Given the description of an element on the screen output the (x, y) to click on. 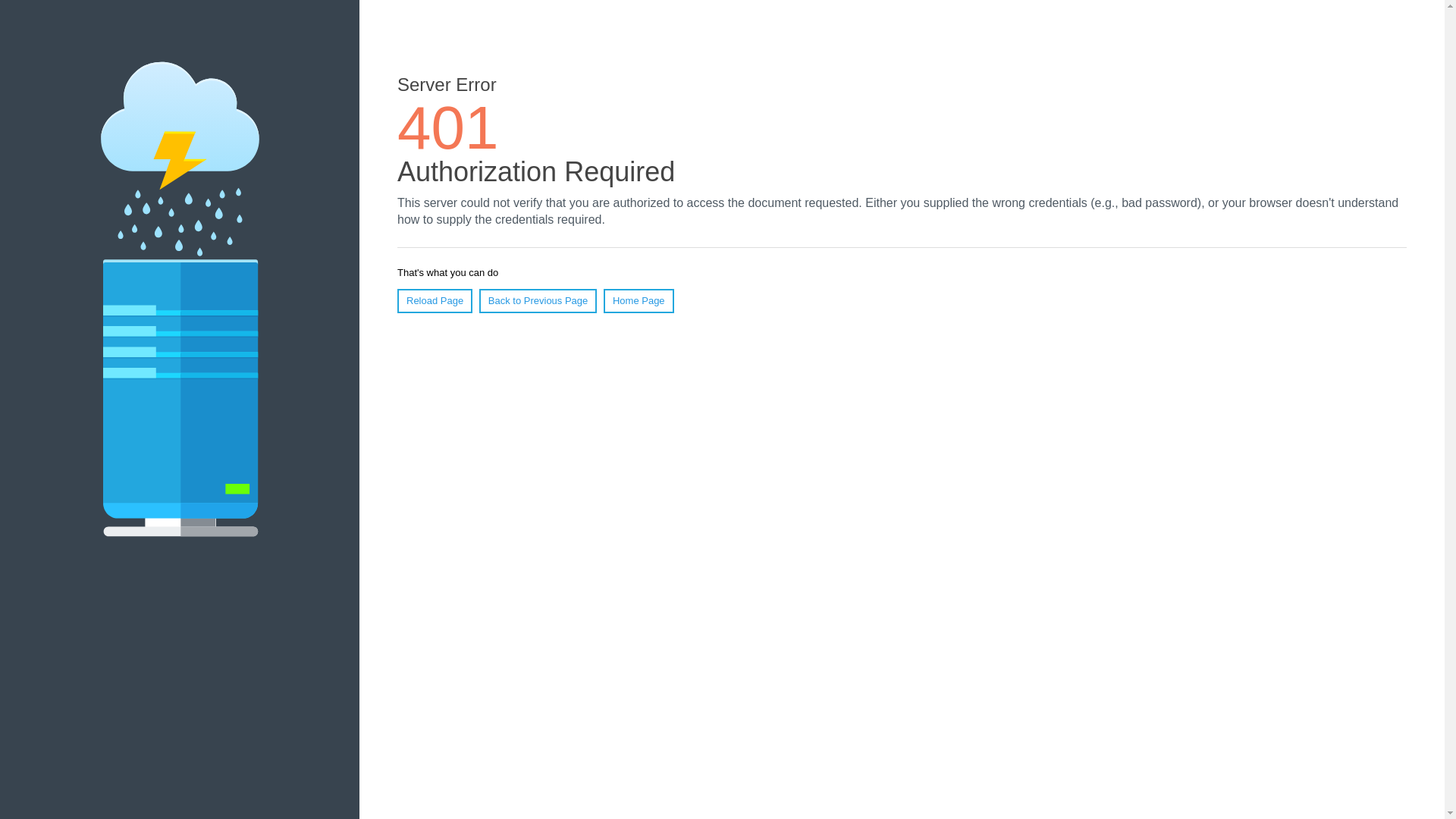
Home Page Element type: text (638, 300)
Reload Page Element type: text (434, 300)
Back to Previous Page Element type: text (538, 300)
